Given the description of an element on the screen output the (x, y) to click on. 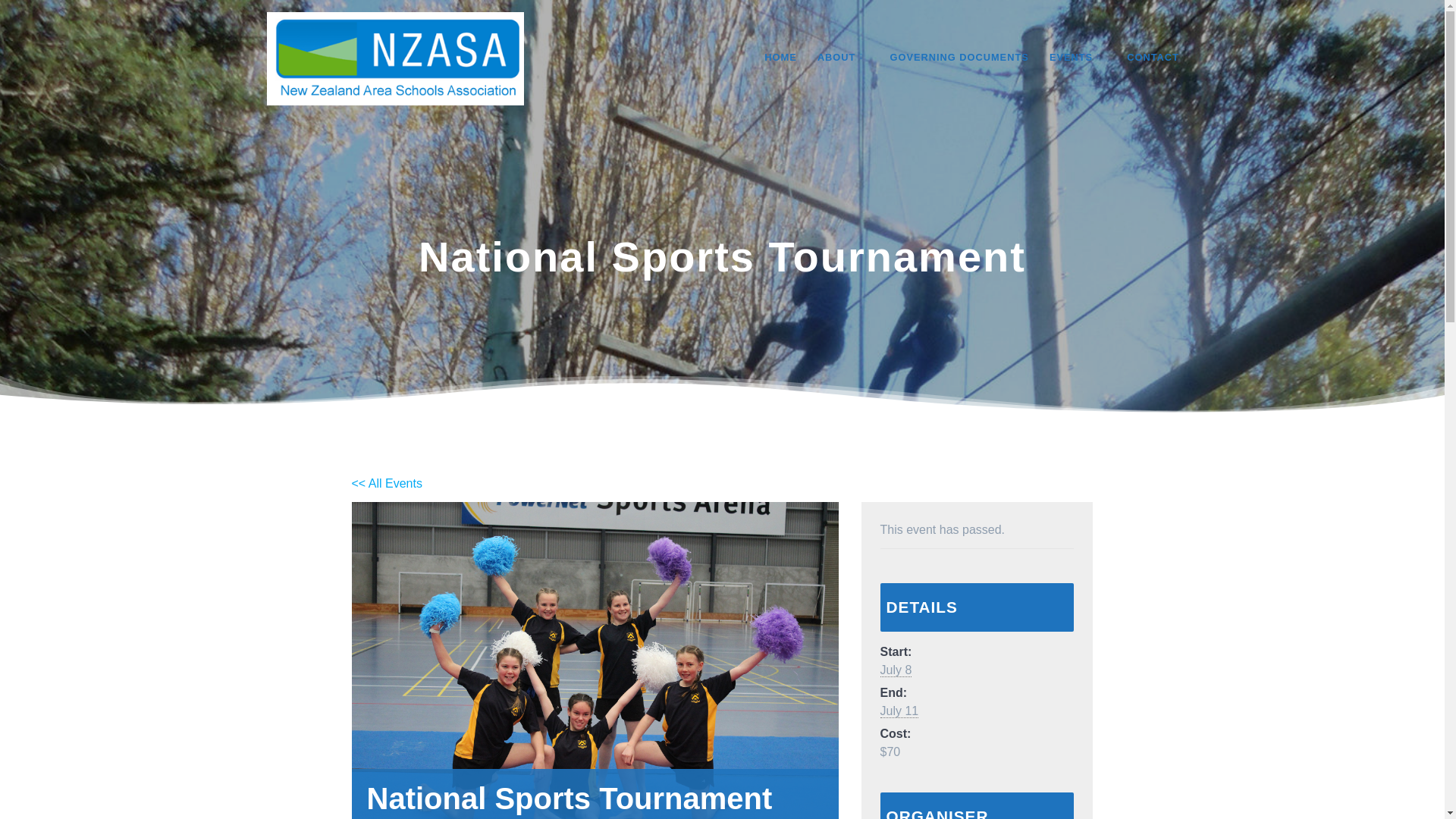
2024-07-08 (895, 670)
2024-07-11 (898, 711)
EVENTS (1077, 58)
HOME (780, 58)
GOVERNING DOCUMENTS (959, 58)
CONTACT (1152, 58)
ABOUT (842, 58)
